Given the description of an element on the screen output the (x, y) to click on. 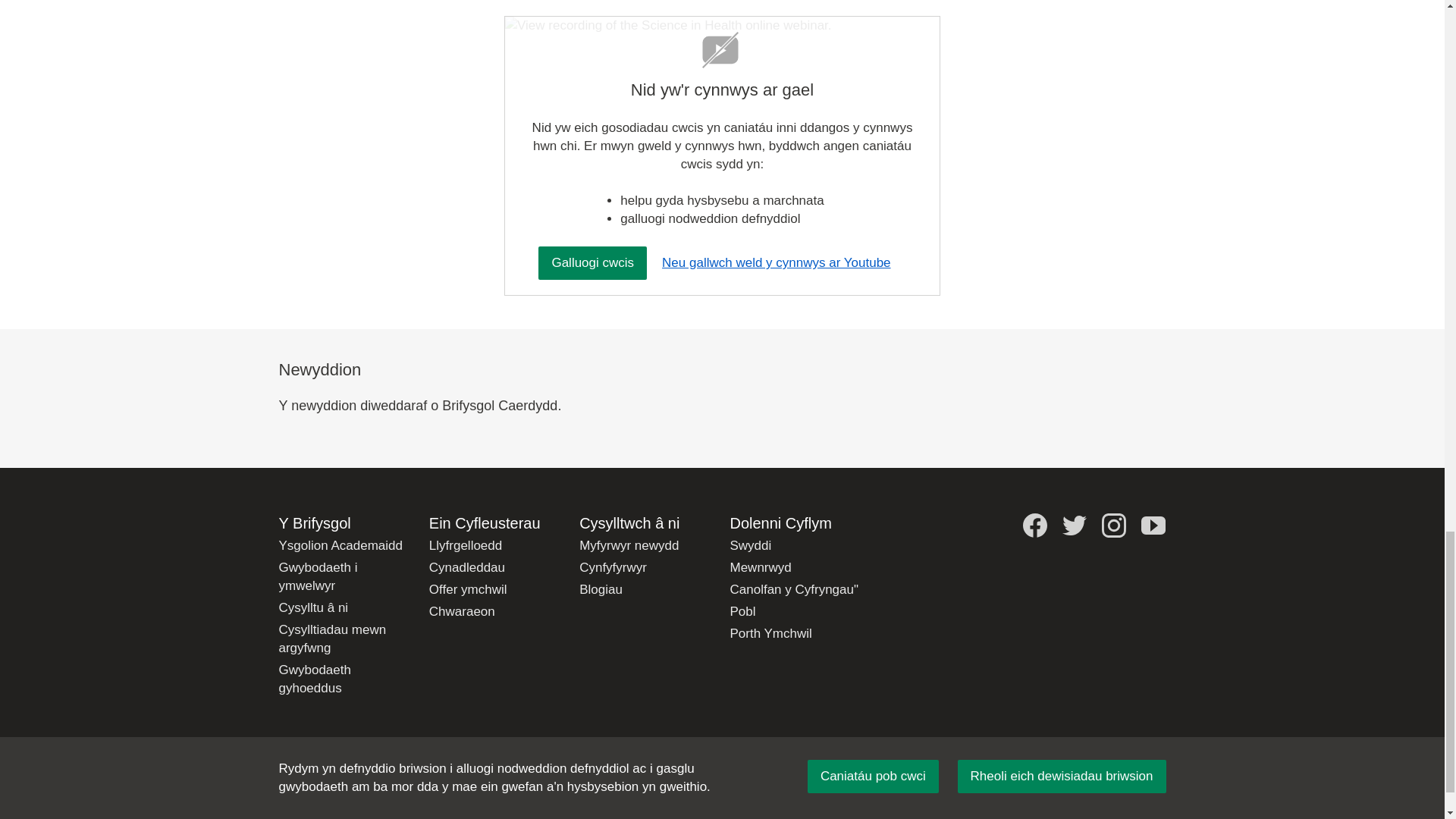
twitter no background icon (1074, 525)
Youtube (1153, 525)
instagram (1113, 525)
facebook (1034, 525)
Video disabled icon (719, 49)
